Given the description of an element on the screen output the (x, y) to click on. 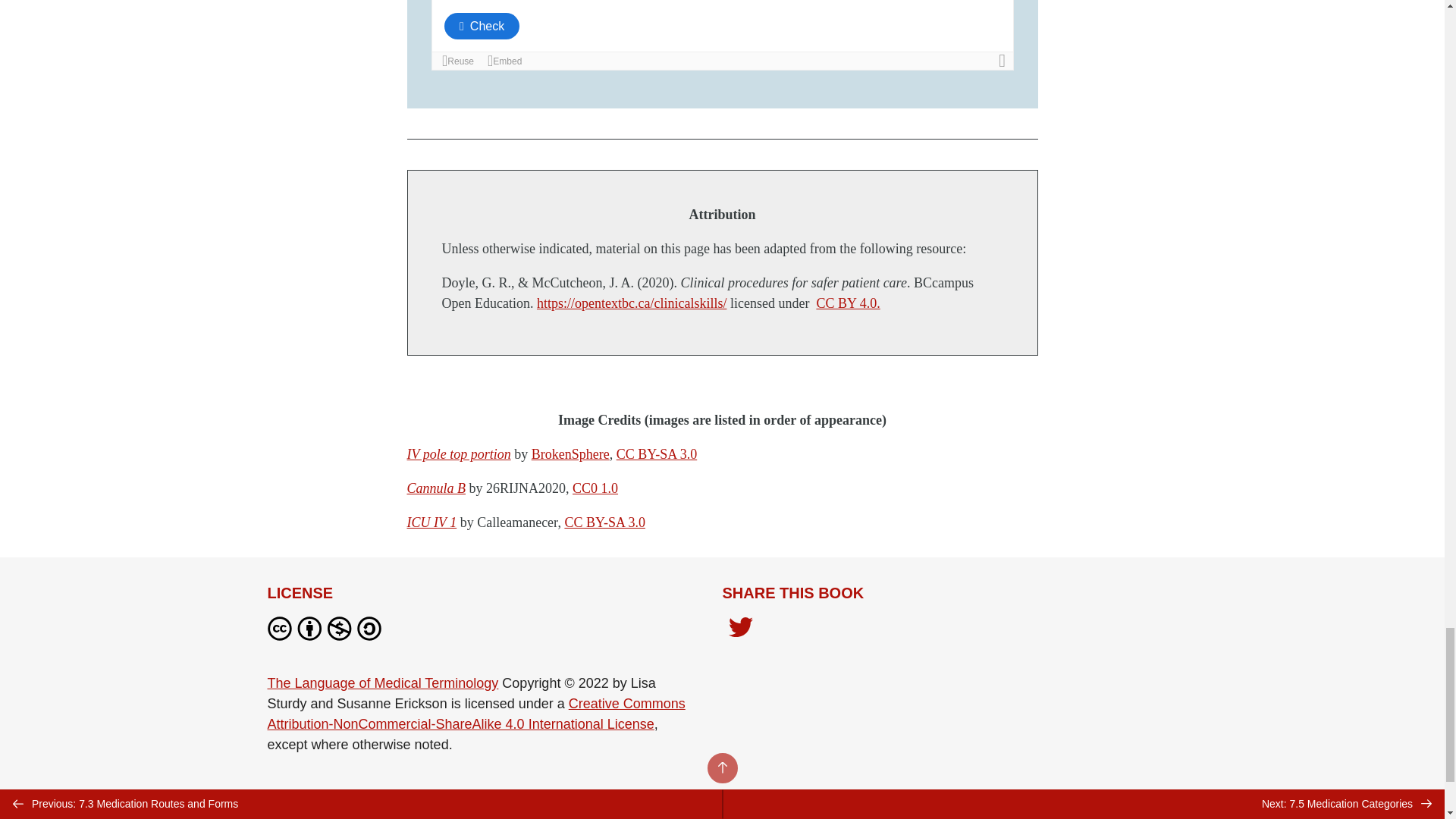
CC BY 4.0. (847, 303)
Chapter 7: IV Medications and Solutions (721, 35)
Cannula B (435, 488)
CC BY-SA 3.0 (604, 522)
Share on Twitter (740, 628)
CC BY-SA 3.0 (656, 453)
CC0 1.0 (594, 488)
IV pole top portion (458, 453)
BrokenSphere (570, 453)
The Language of Medical Terminology (381, 683)
ICU IV 1 (431, 522)
Share on Twitter (740, 631)
